Given the description of an element on the screen output the (x, y) to click on. 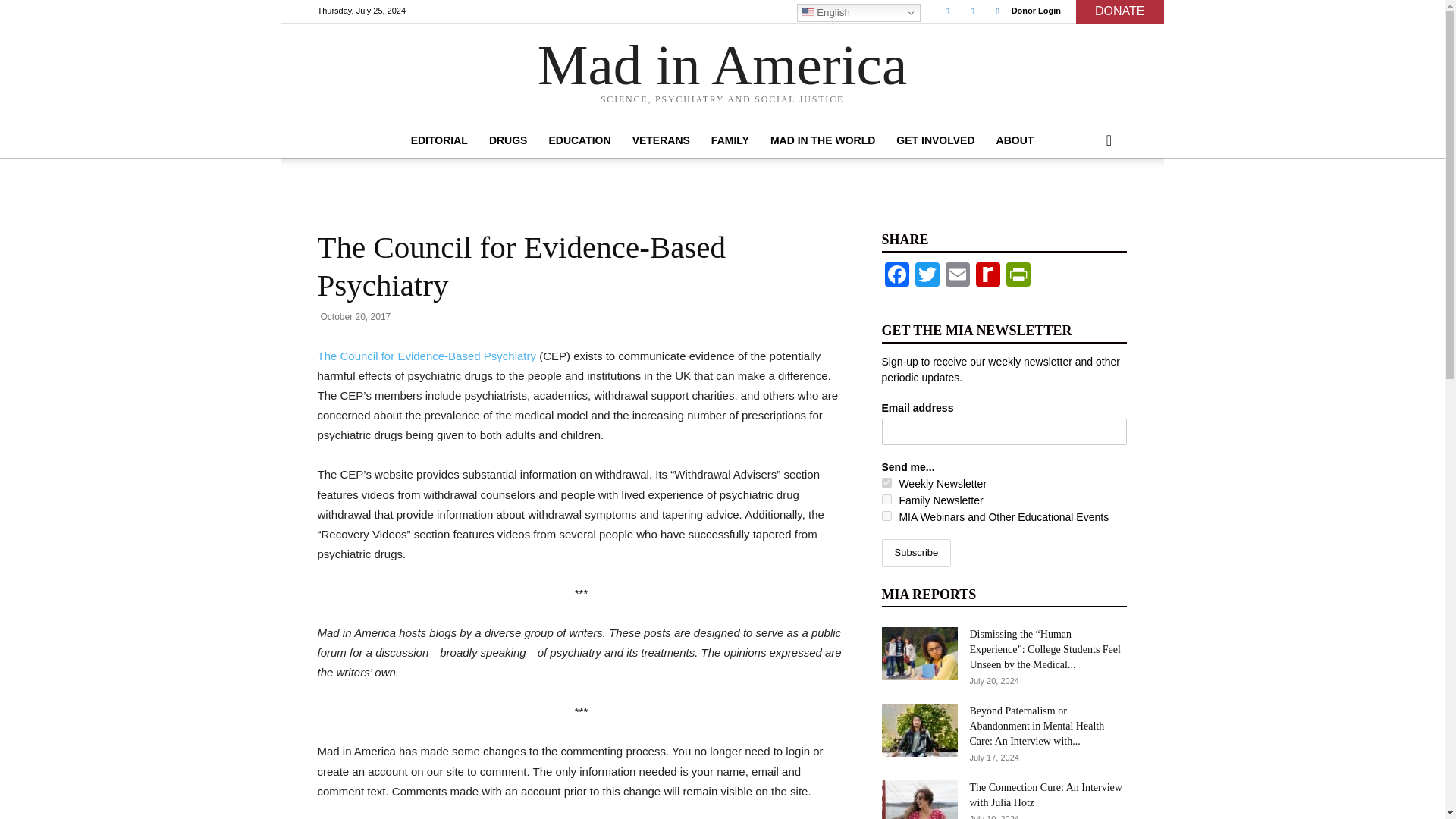
Facebook (947, 10)
Subscribe (915, 552)
Youtube (998, 10)
Twitter (972, 10)
64ec82b4cd (885, 499)
a8b577bac2 (885, 482)
Facebook (895, 276)
59a3706891 (885, 515)
